Given the description of an element on the screen output the (x, y) to click on. 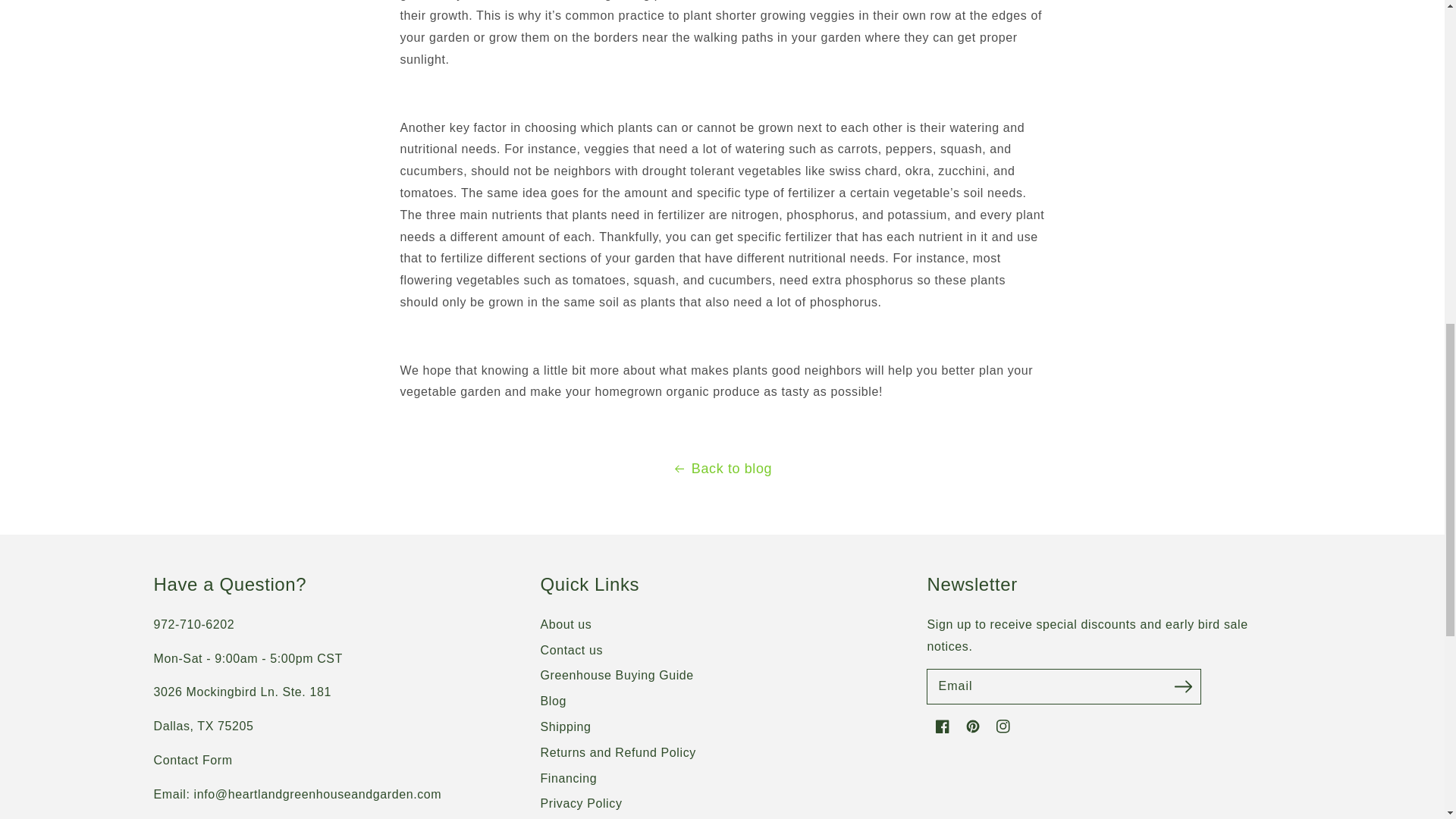
Contact us (191, 759)
